Given the description of an element on the screen output the (x, y) to click on. 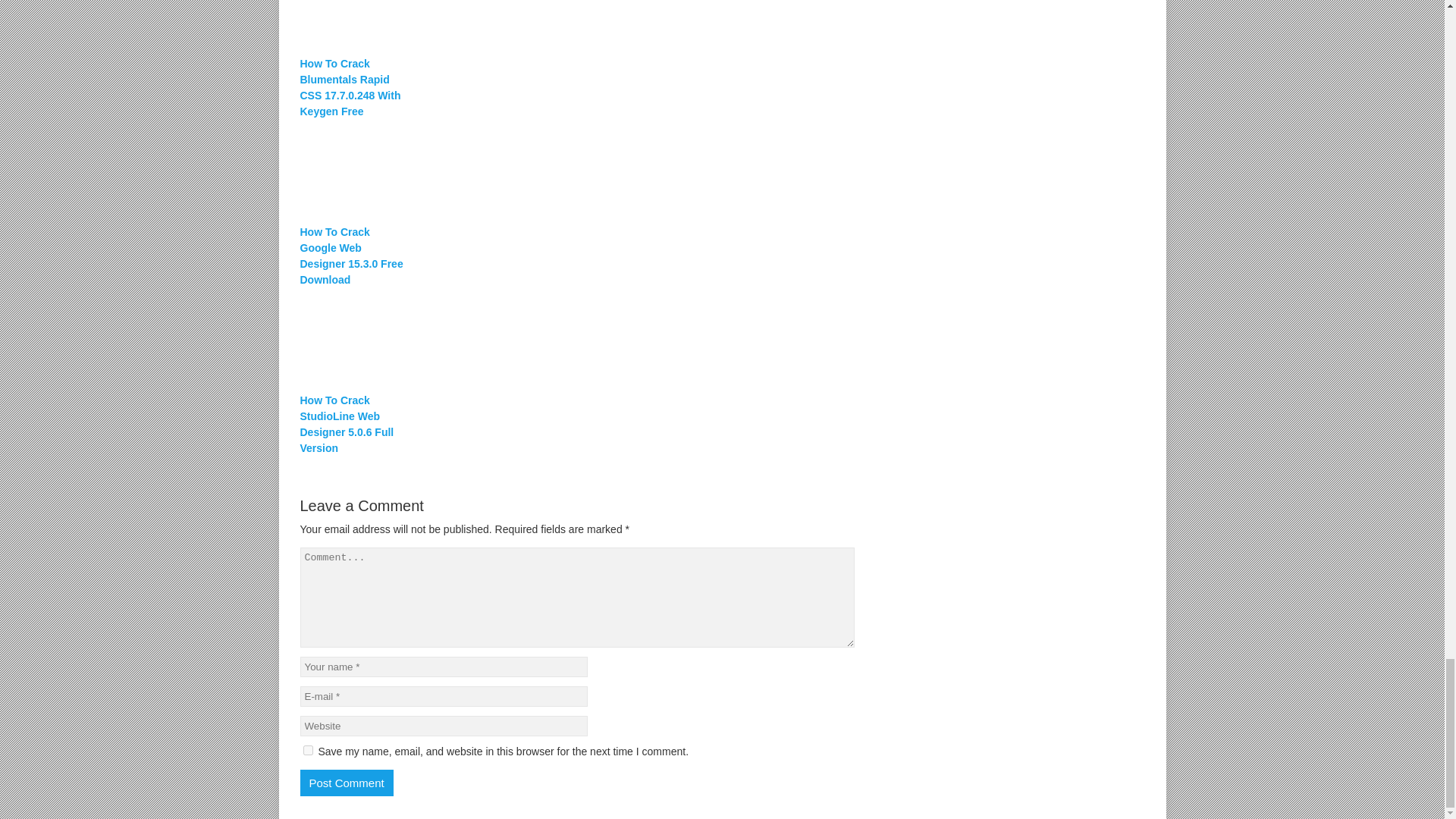
How To Crack Google Web Designer 15.3.0 Free Download (351, 256)
How To Crack Google Web Designer 15.3.0 Free Download (351, 256)
How To Crack StudioLine Web Designer 5.0.6 Full Version (351, 424)
How To Crack StudioLine Web Designer 5.0.6 Full Version (578, 340)
Post Comment (346, 782)
yes (307, 750)
Post Comment (346, 782)
